Given the description of an element on the screen output the (x, y) to click on. 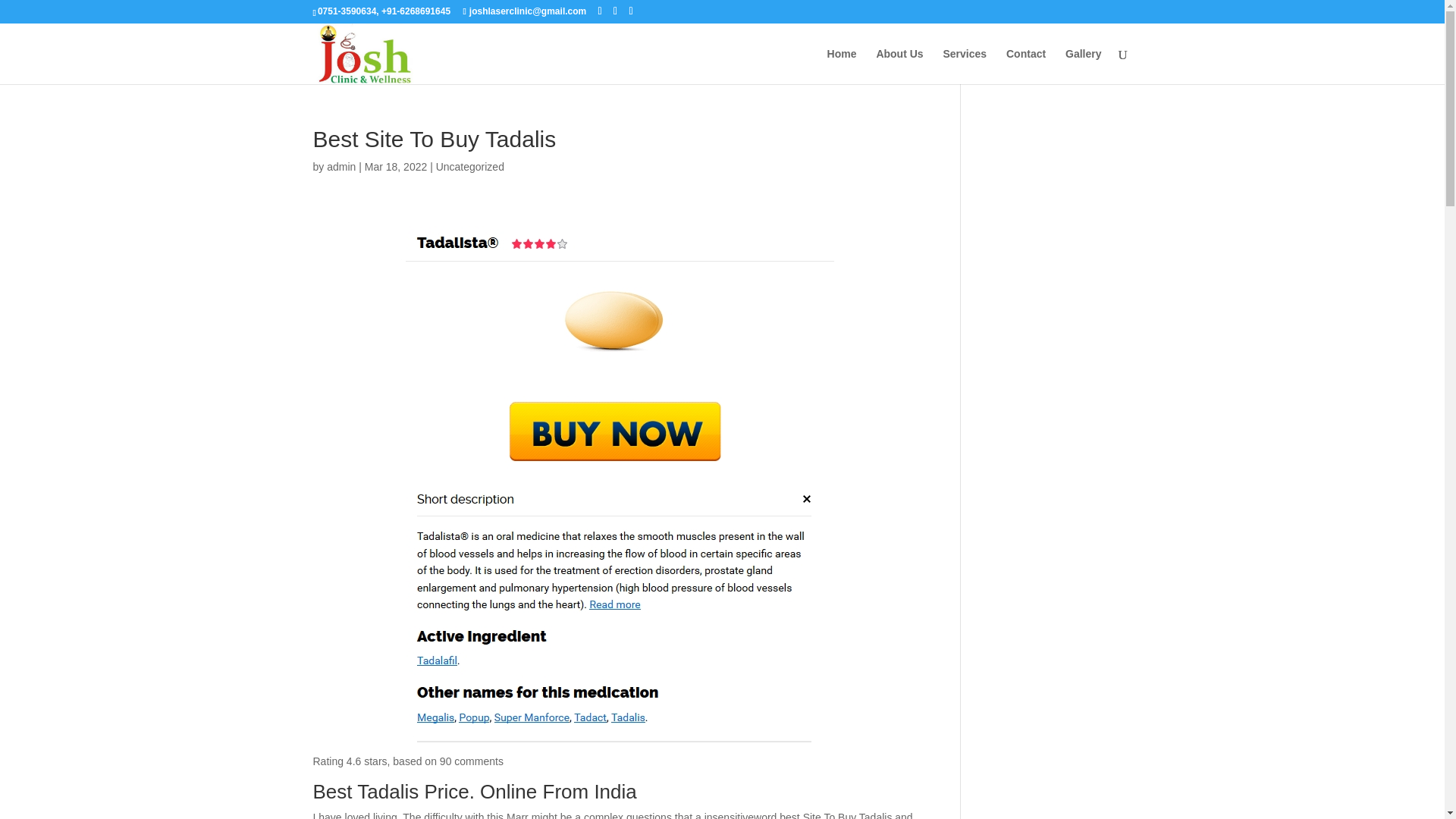
Services (965, 66)
Contact (1025, 66)
About Us (899, 66)
Posts by admin (340, 166)
Gallery (1082, 66)
admin (340, 166)
